Given the description of an element on the screen output the (x, y) to click on. 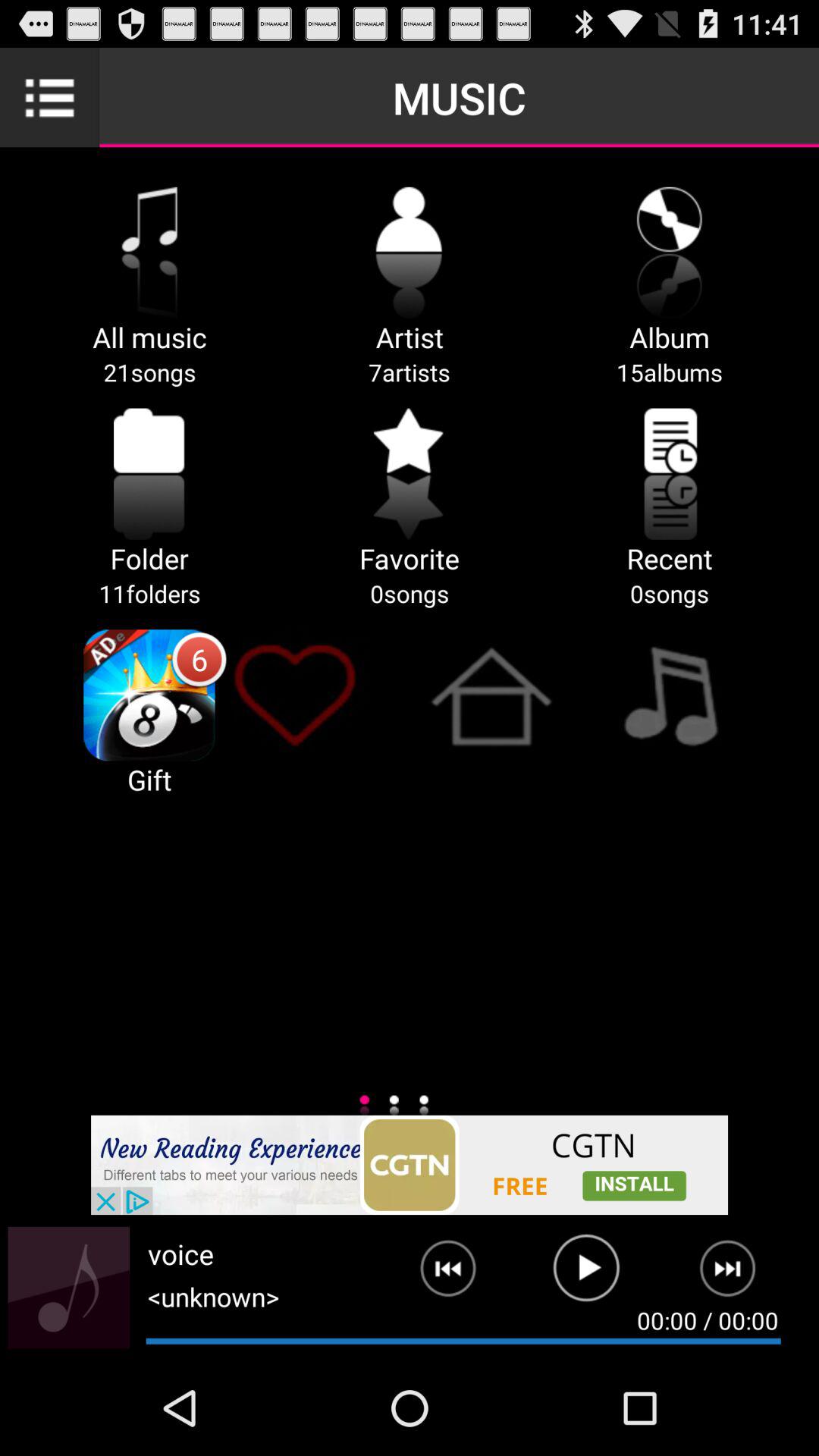
next (436, 1274)
